Given the description of an element on the screen output the (x, y) to click on. 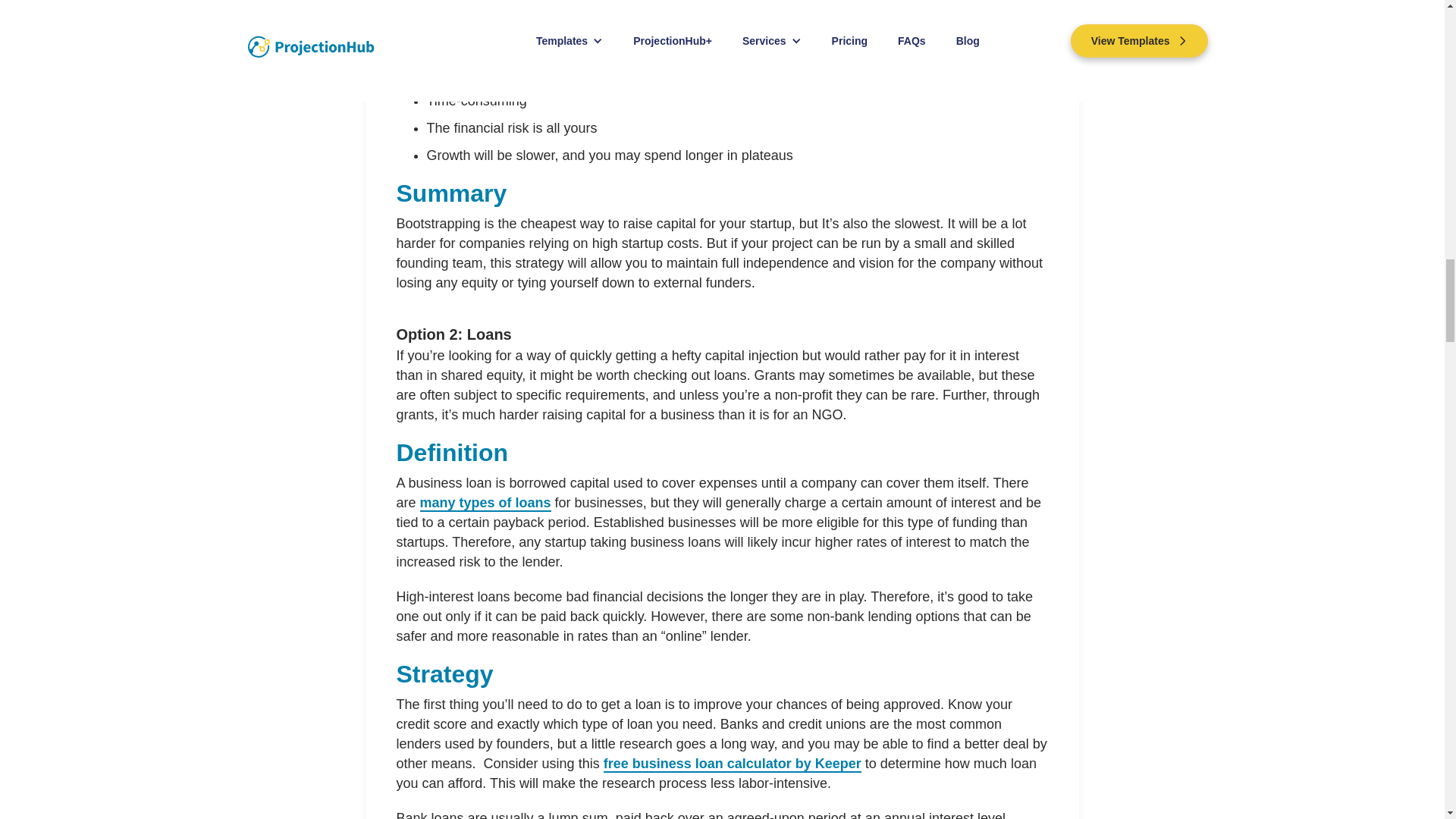
free business loan calculator by Keeper (732, 764)
many types of loans (485, 503)
